Given the description of an element on the screen output the (x, y) to click on. 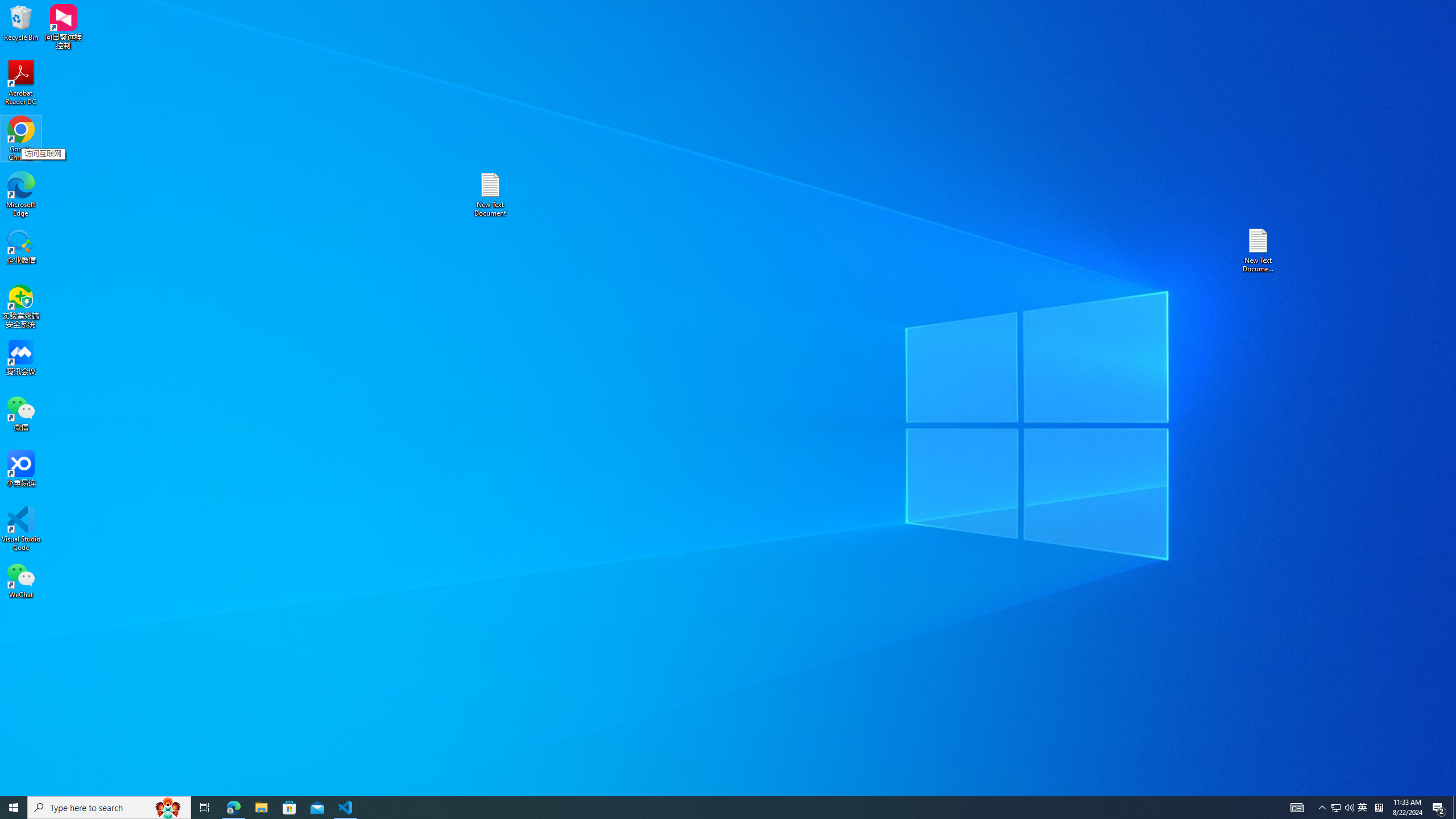
Search highlights icon opens search home window (167, 807)
